Given the description of an element on the screen output the (x, y) to click on. 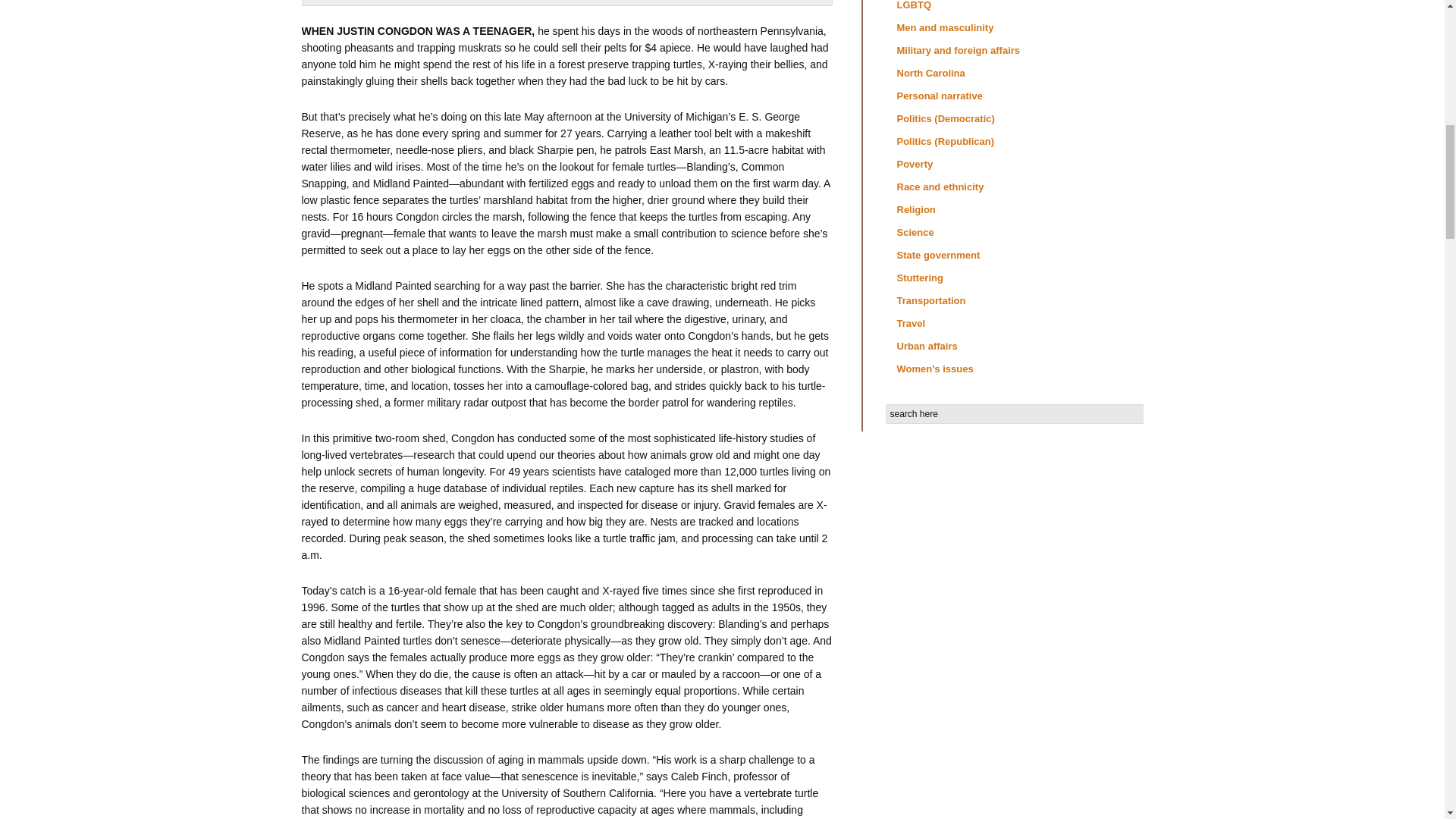
Men and masculinity (944, 27)
LGBTQ (913, 5)
